Given the description of an element on the screen output the (x, y) to click on. 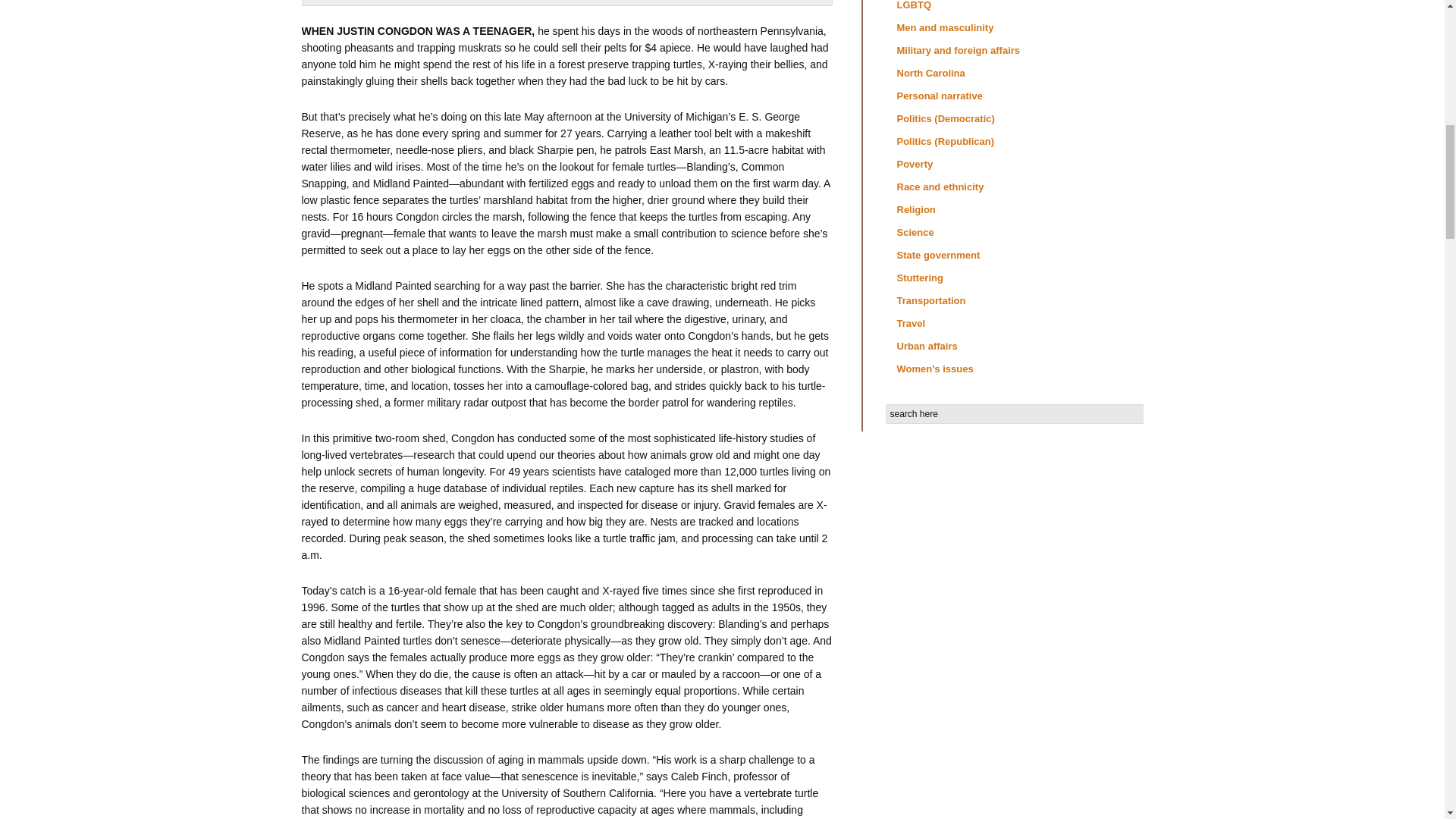
Men and masculinity (944, 27)
LGBTQ (913, 5)
